Given the description of an element on the screen output the (x, y) to click on. 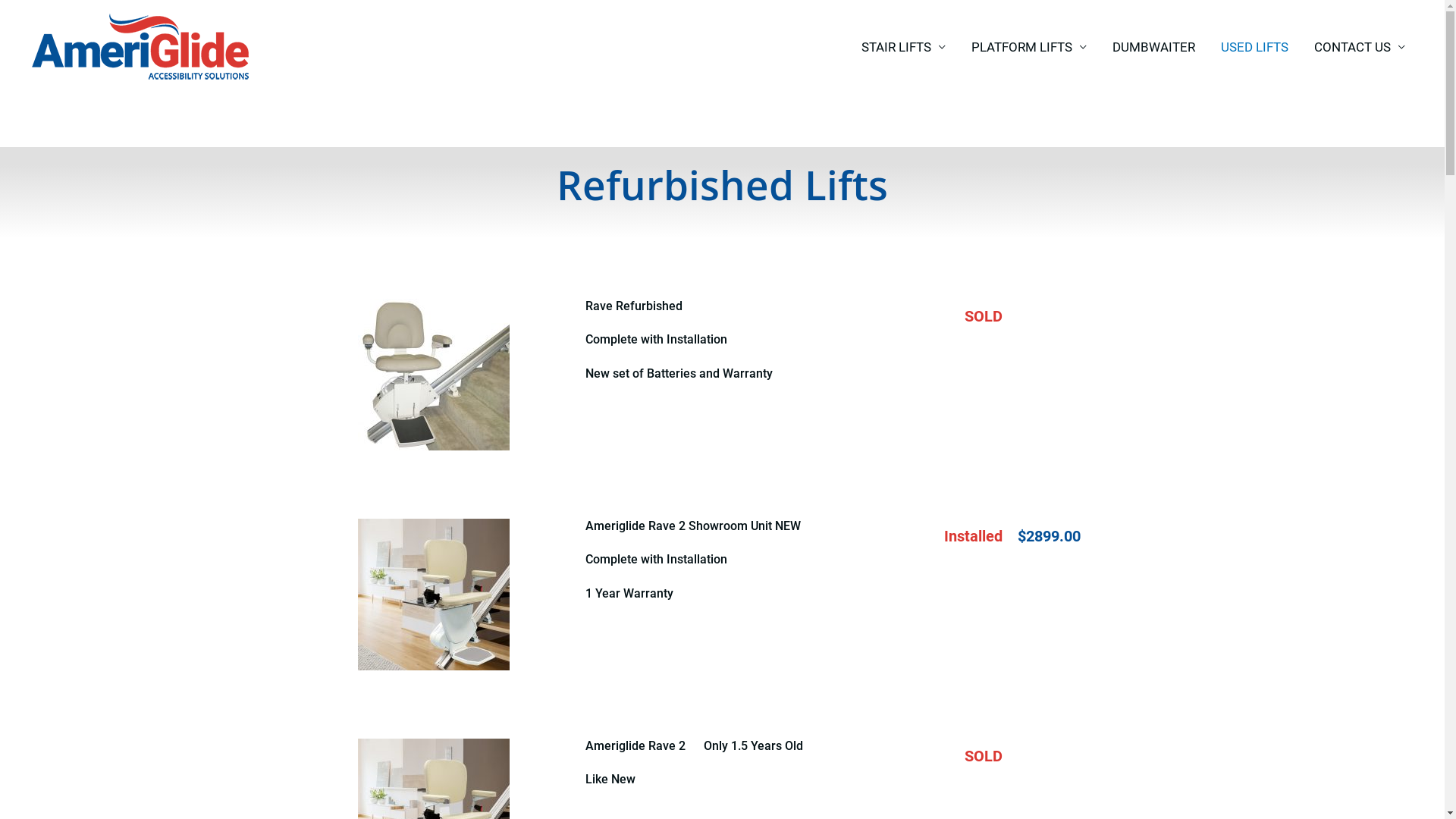
DUMBWAITER Element type: text (1153, 47)
Rave Stair Lift  Ameriglide Element type: hover (433, 374)
USED LIFTS Element type: text (1254, 47)
Ameriglide Rave 2 Element type: hover (433, 594)
STAIR LIFTS Element type: text (903, 47)
CONTACT US Element type: text (1359, 47)
PLATFORM LIFTS Element type: text (1028, 47)
